Given the description of an element on the screen output the (x, y) to click on. 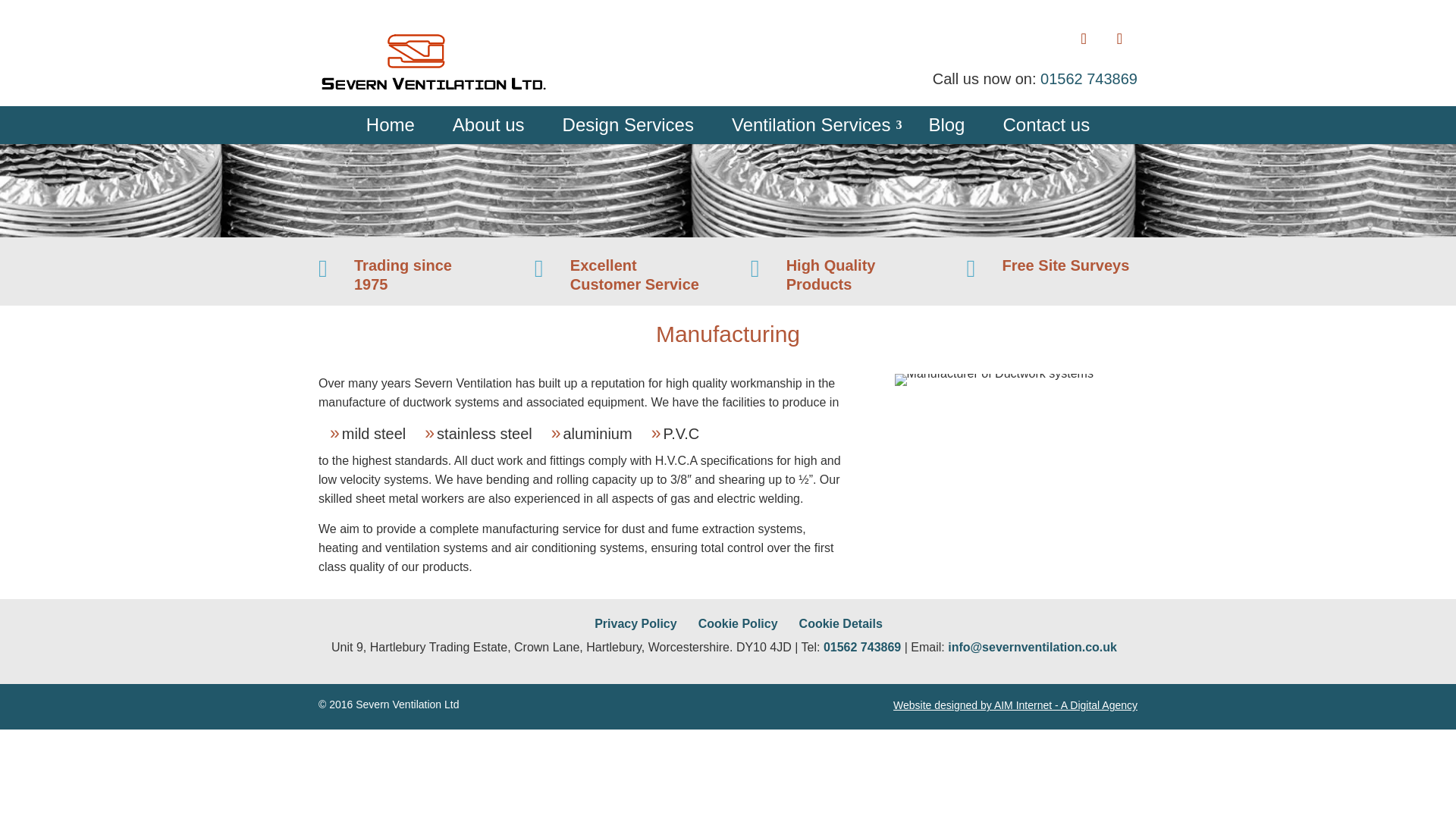
Manufacturer of Ductwork systems (994, 379)
01562 743869 (1089, 78)
Website designed by AIM Internet - A Digital Agency (1015, 705)
Home (390, 125)
Privacy Policy (635, 623)
Ventilation Services (810, 125)
Blog (945, 125)
Cookie Policy (737, 623)
Contact us (1046, 125)
Cookie Details (840, 623)
